Given the description of an element on the screen output the (x, y) to click on. 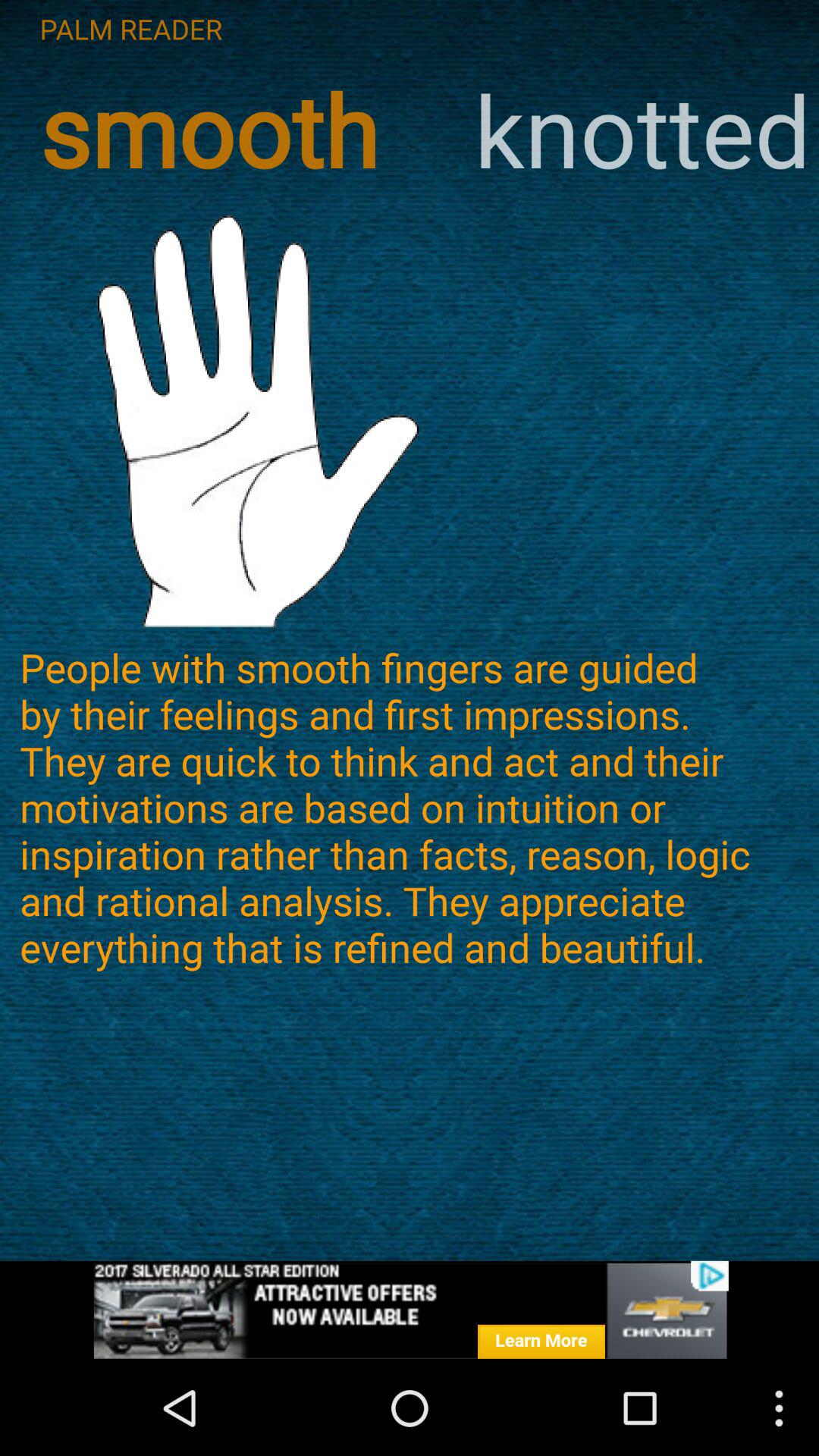
showing the advertisement (409, 1310)
